Given the description of an element on the screen output the (x, y) to click on. 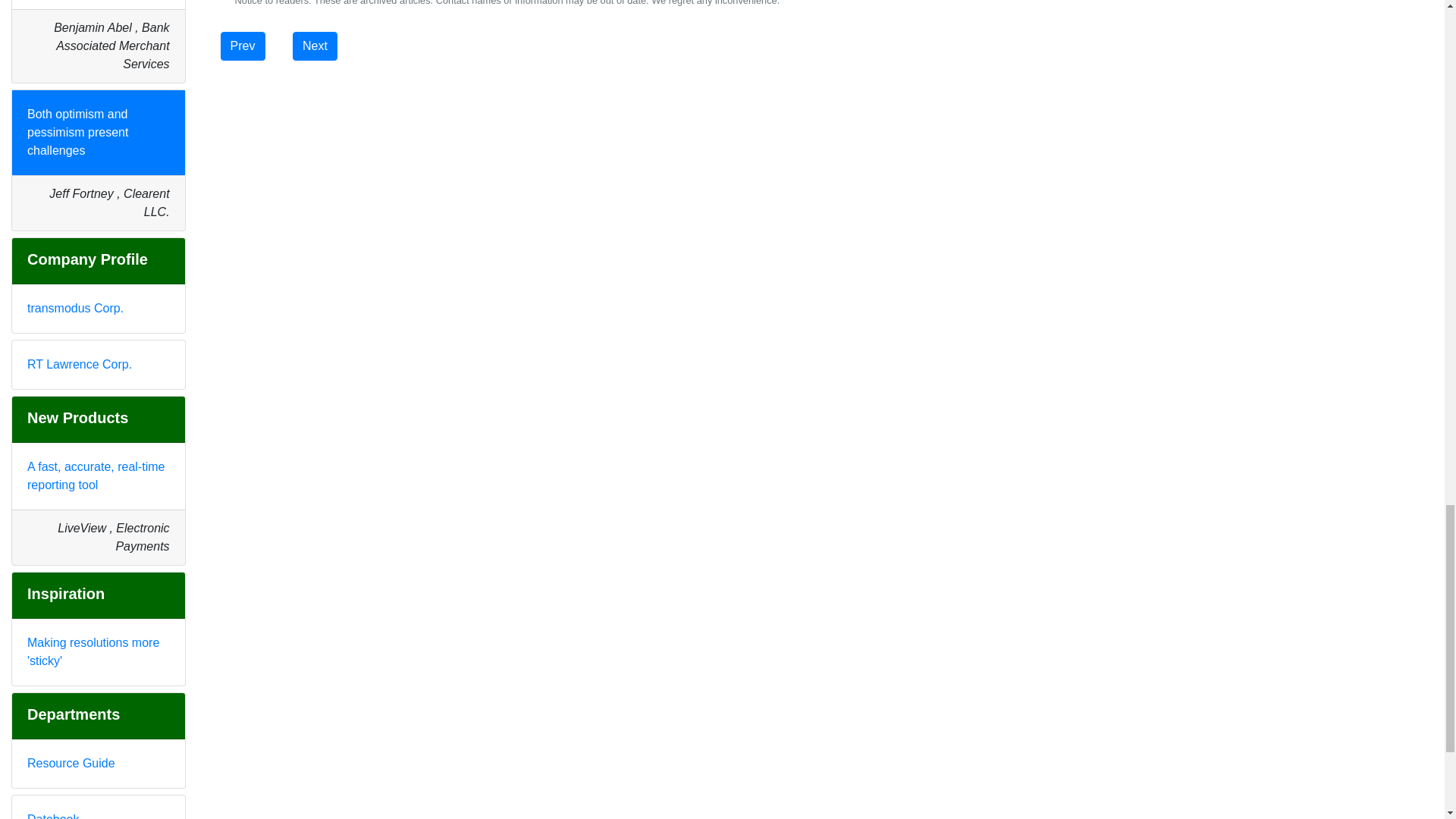
Prev (242, 45)
Next (314, 45)
